Given the description of an element on the screen output the (x, y) to click on. 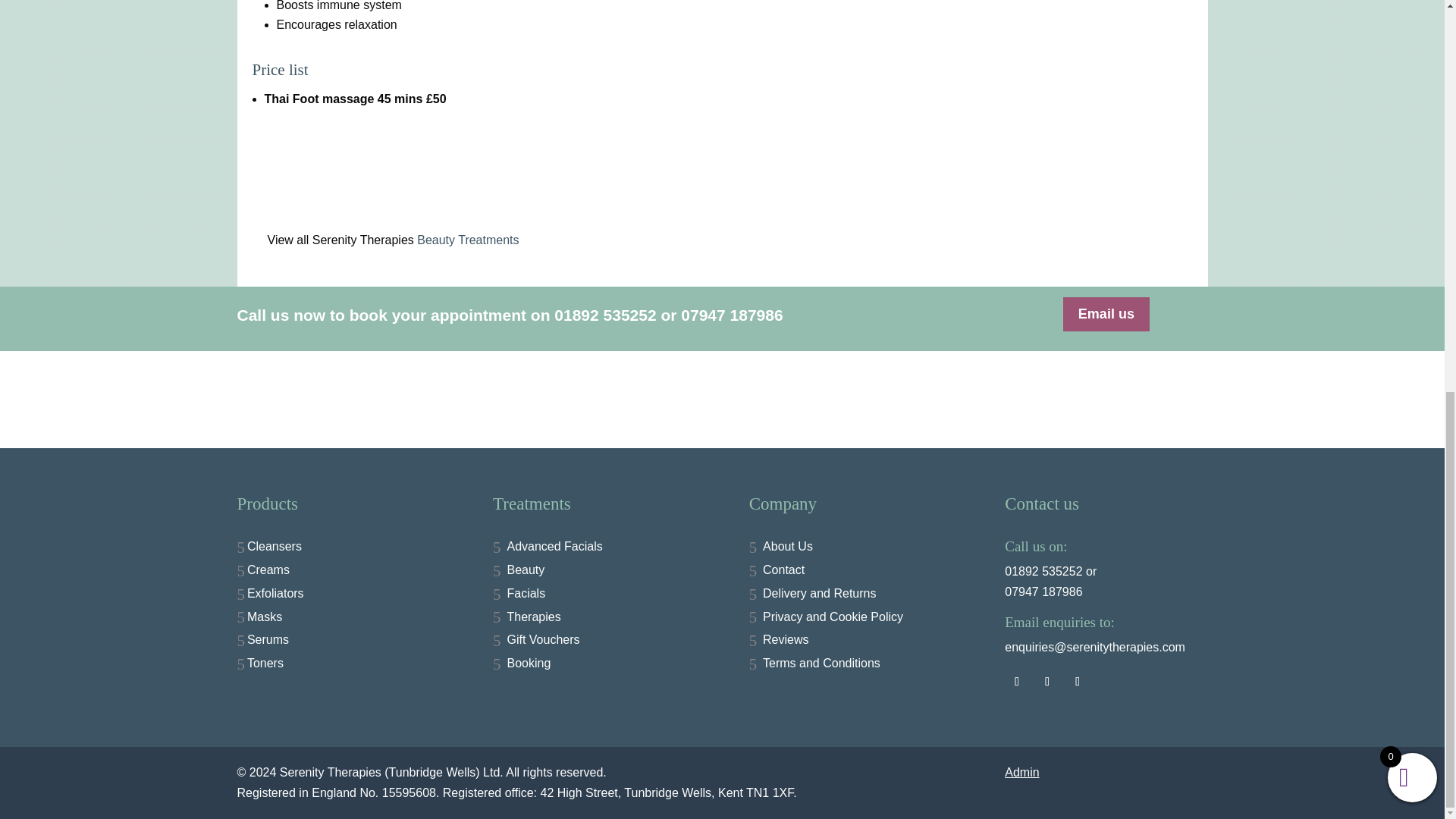
Follow on Pinterest (1077, 681)
Follow on X (1047, 681)
Follow on Facebook (1016, 681)
